Given the description of an element on the screen output the (x, y) to click on. 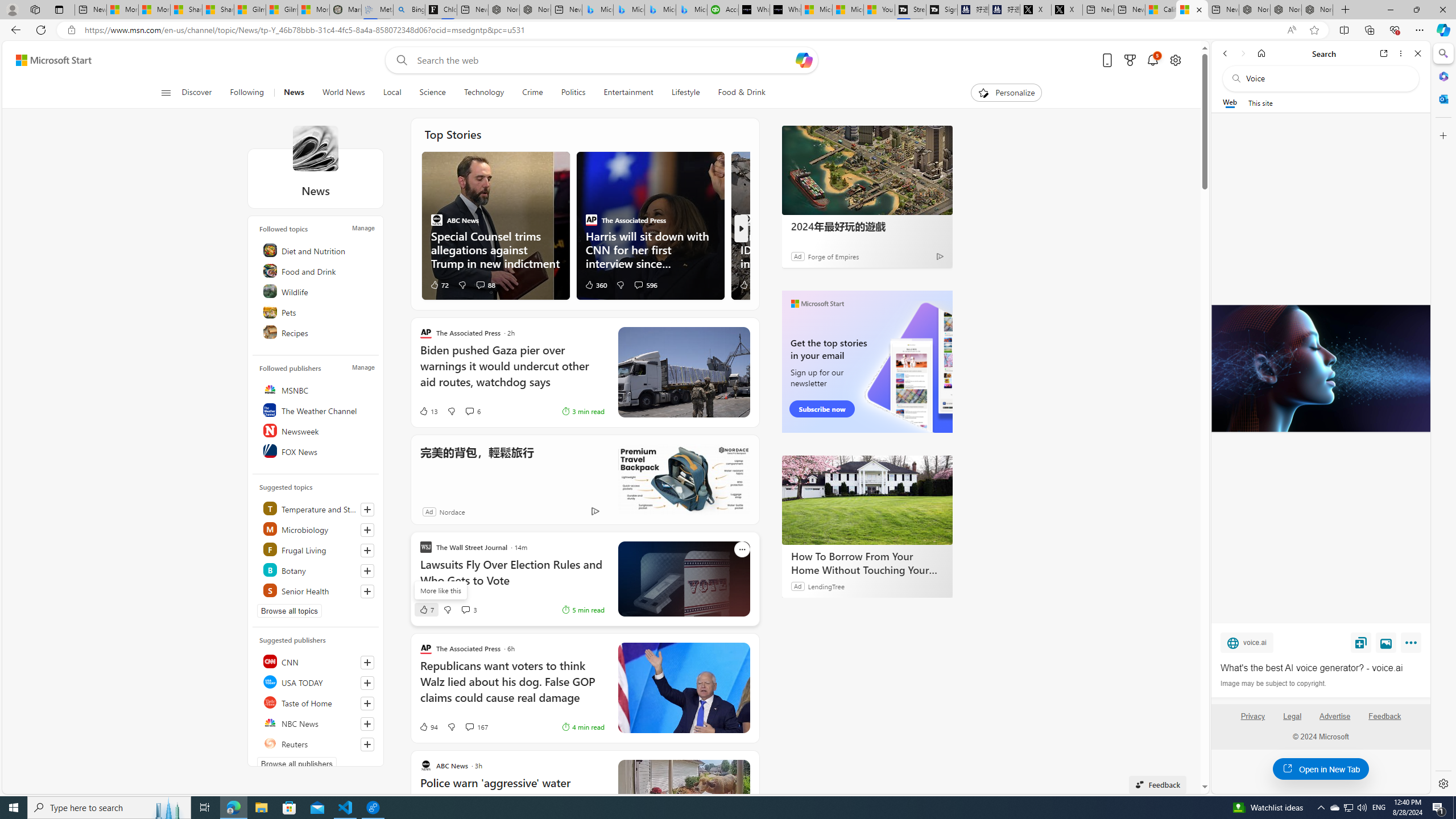
FOX News (317, 451)
Advertise (1334, 720)
Customize (1442, 135)
View comments 88 Comment (484, 284)
More (1413, 644)
Pets (317, 311)
Technology (483, 92)
Entertainment (628, 92)
View comments 167 Comment (476, 726)
View comments 596 Comment (645, 284)
Taste of Home (317, 702)
